Given the description of an element on the screen output the (x, y) to click on. 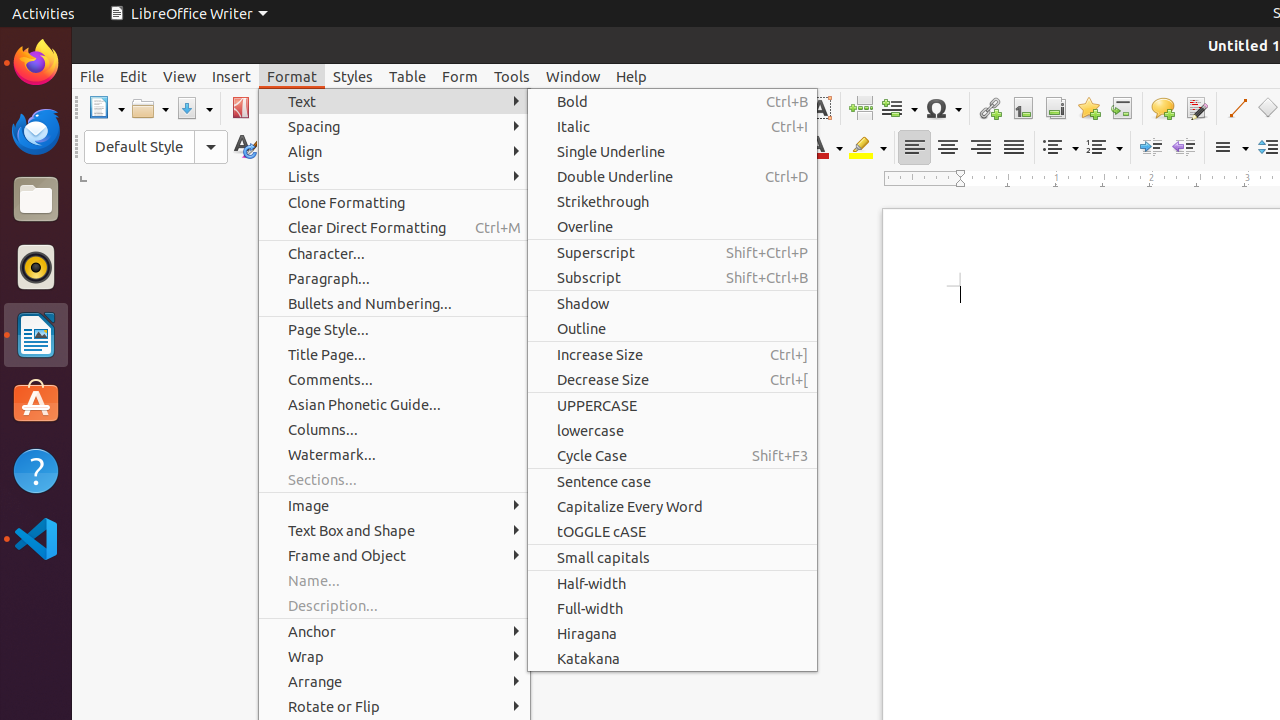
Decrease Size Element type: menu-item (672, 379)
Strikethrough Element type: toggle-button (662, 147)
lowercase Element type: menu-item (672, 430)
Arrange Element type: menu (394, 681)
Spacing Element type: menu (394, 126)
